Given the description of an element on the screen output the (x, y) to click on. 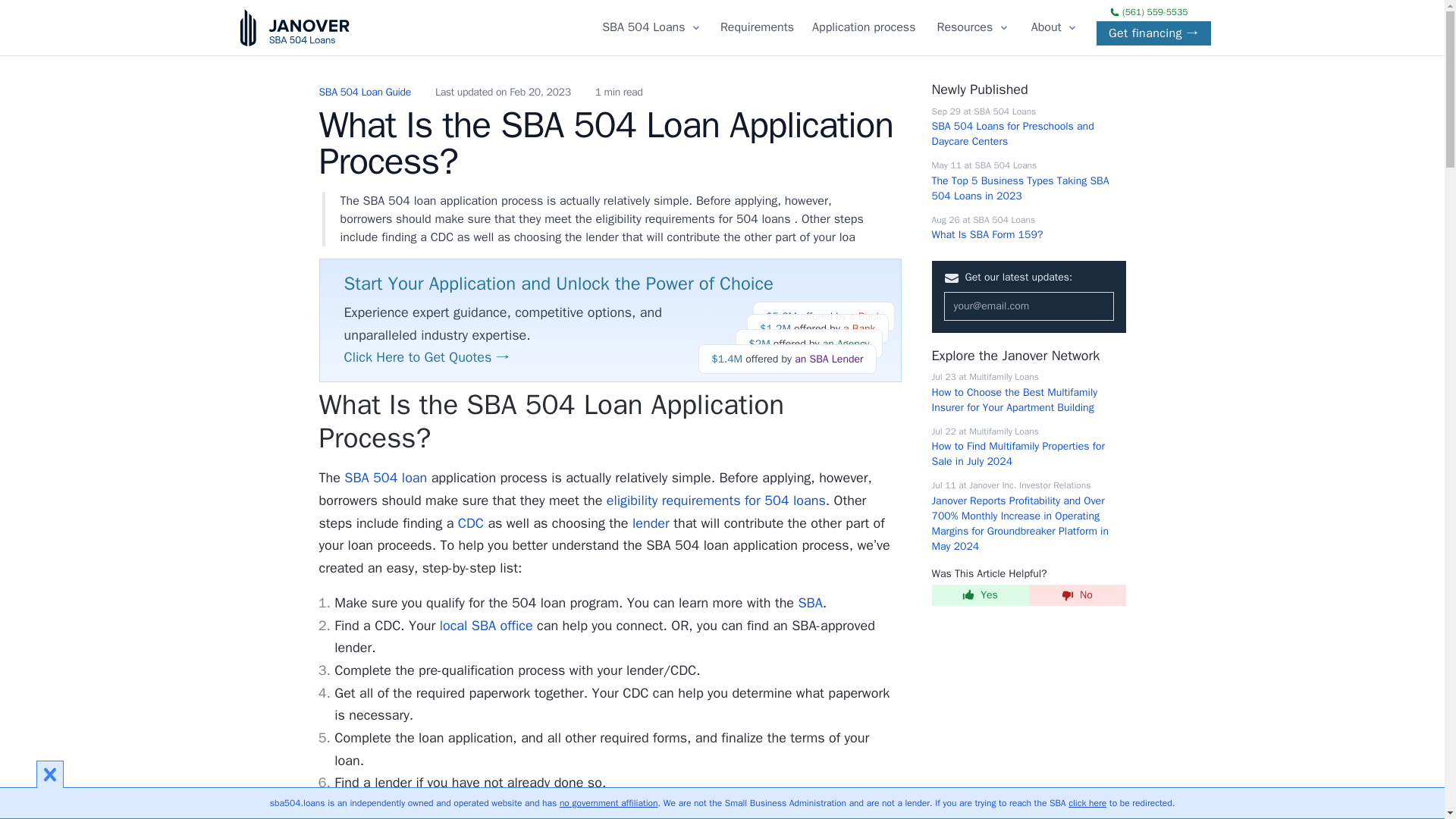
SBA 504 Loan Guide (364, 92)
No (1076, 595)
Application process (986, 225)
Yes (863, 27)
Requirements (979, 595)
About (757, 27)
SBA 504 loan (1046, 27)
eligibility requirements for 504 loans (384, 477)
SBA 504 Loans (716, 500)
Resources (643, 27)
